Given the description of an element on the screen output the (x, y) to click on. 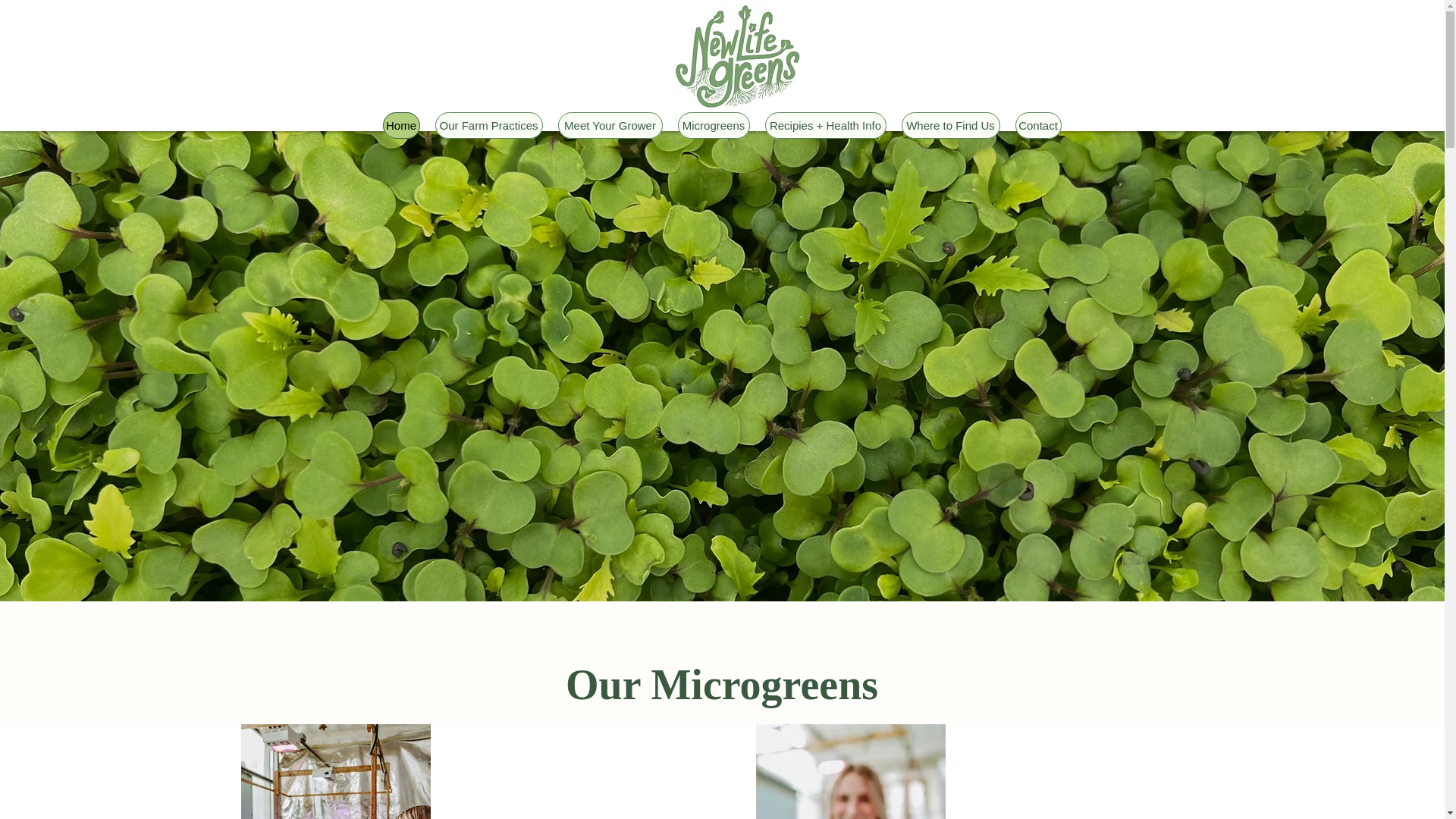
Microgreens (713, 125)
Meet Your Grower (609, 125)
Our Farm Practices (489, 125)
Home (400, 125)
Contact (1037, 125)
Where to Find Us (949, 125)
